Given the description of an element on the screen output the (x, y) to click on. 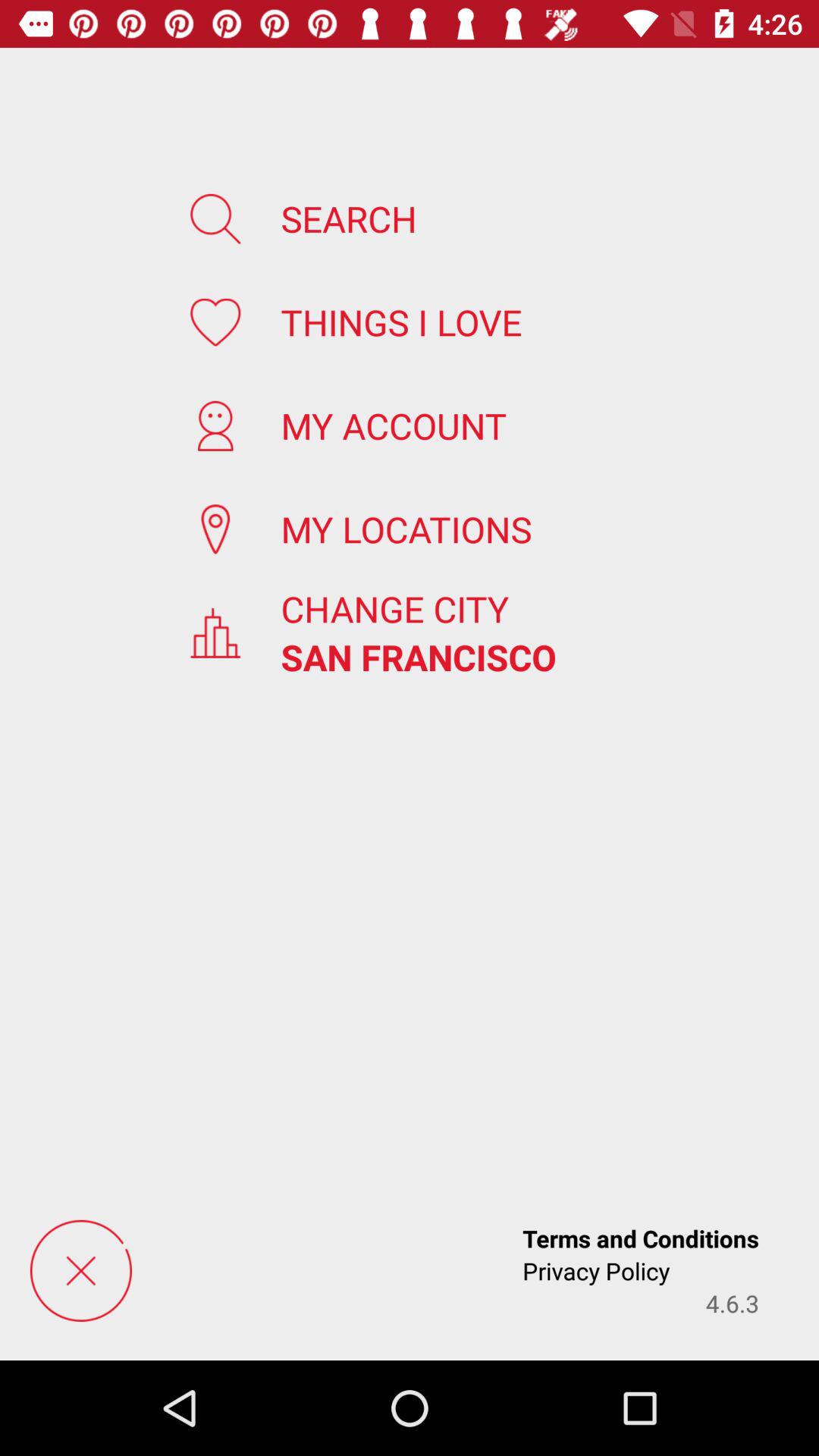
press app next to 4.6.3 icon (595, 1270)
